Given the description of an element on the screen output the (x, y) to click on. 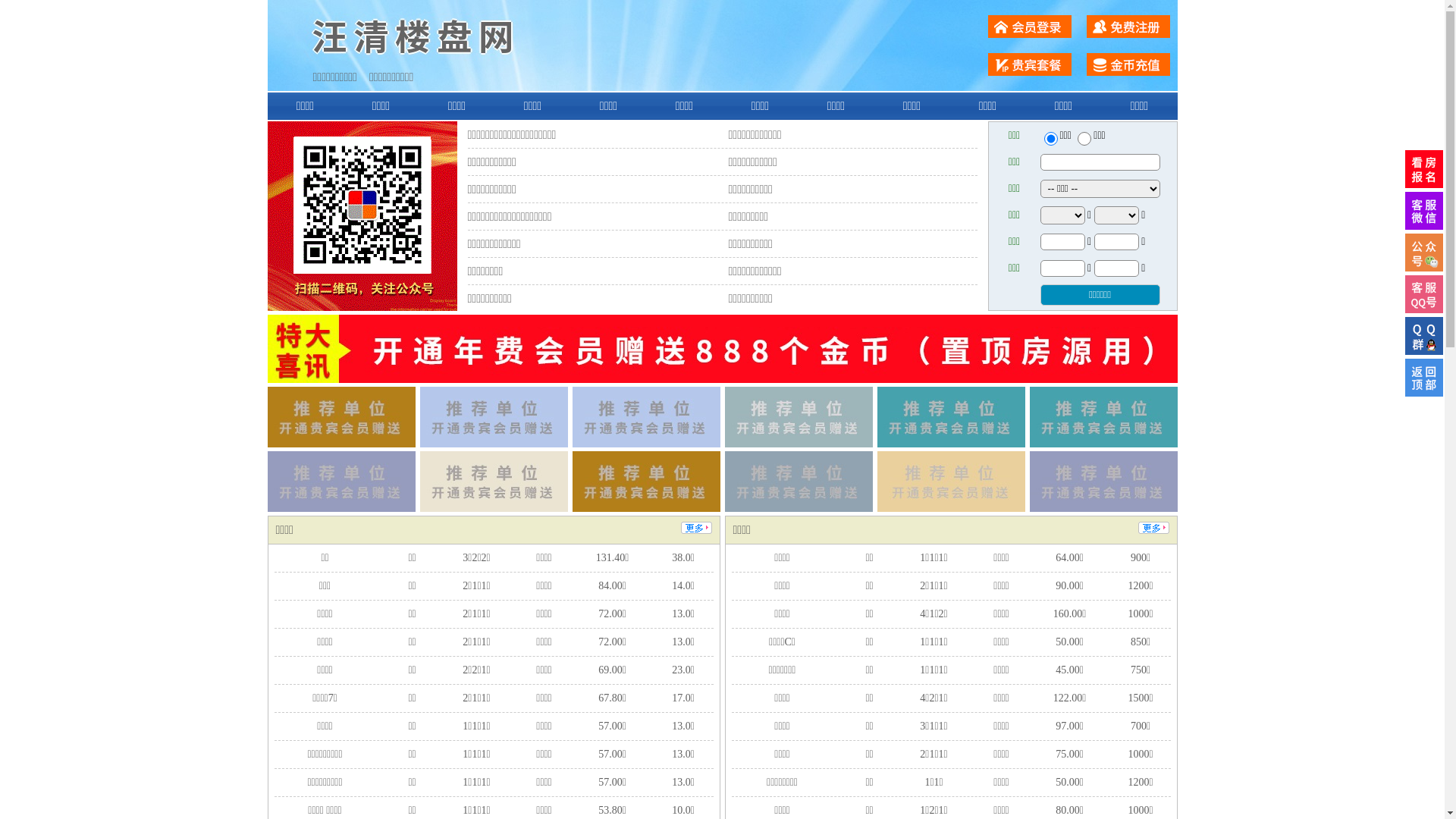
ershou Element type: text (1050, 138)
chuzu Element type: text (1084, 138)
